Given the description of an element on the screen output the (x, y) to click on. 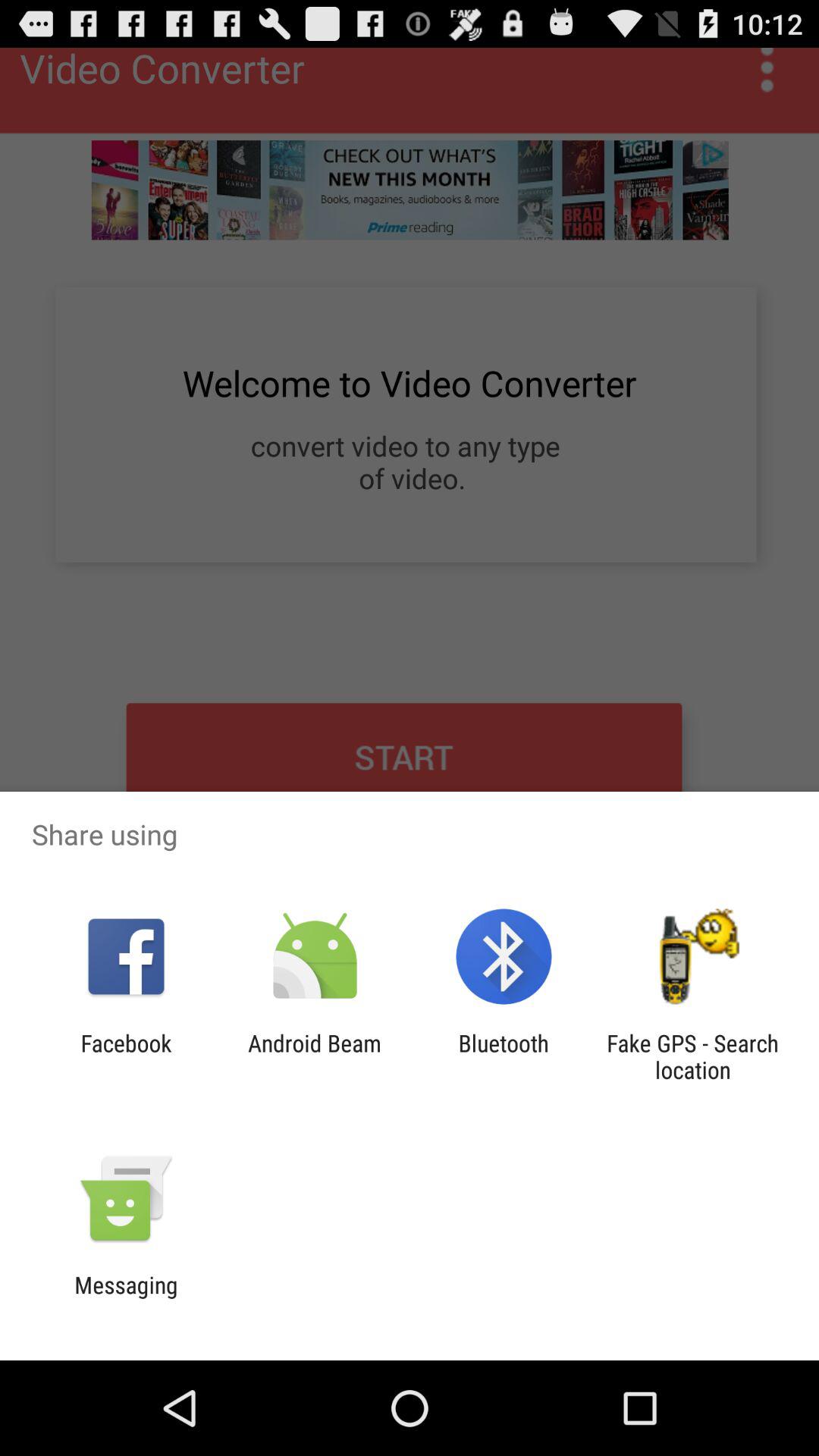
turn on icon next to the bluetooth (692, 1056)
